Given the description of an element on the screen output the (x, y) to click on. 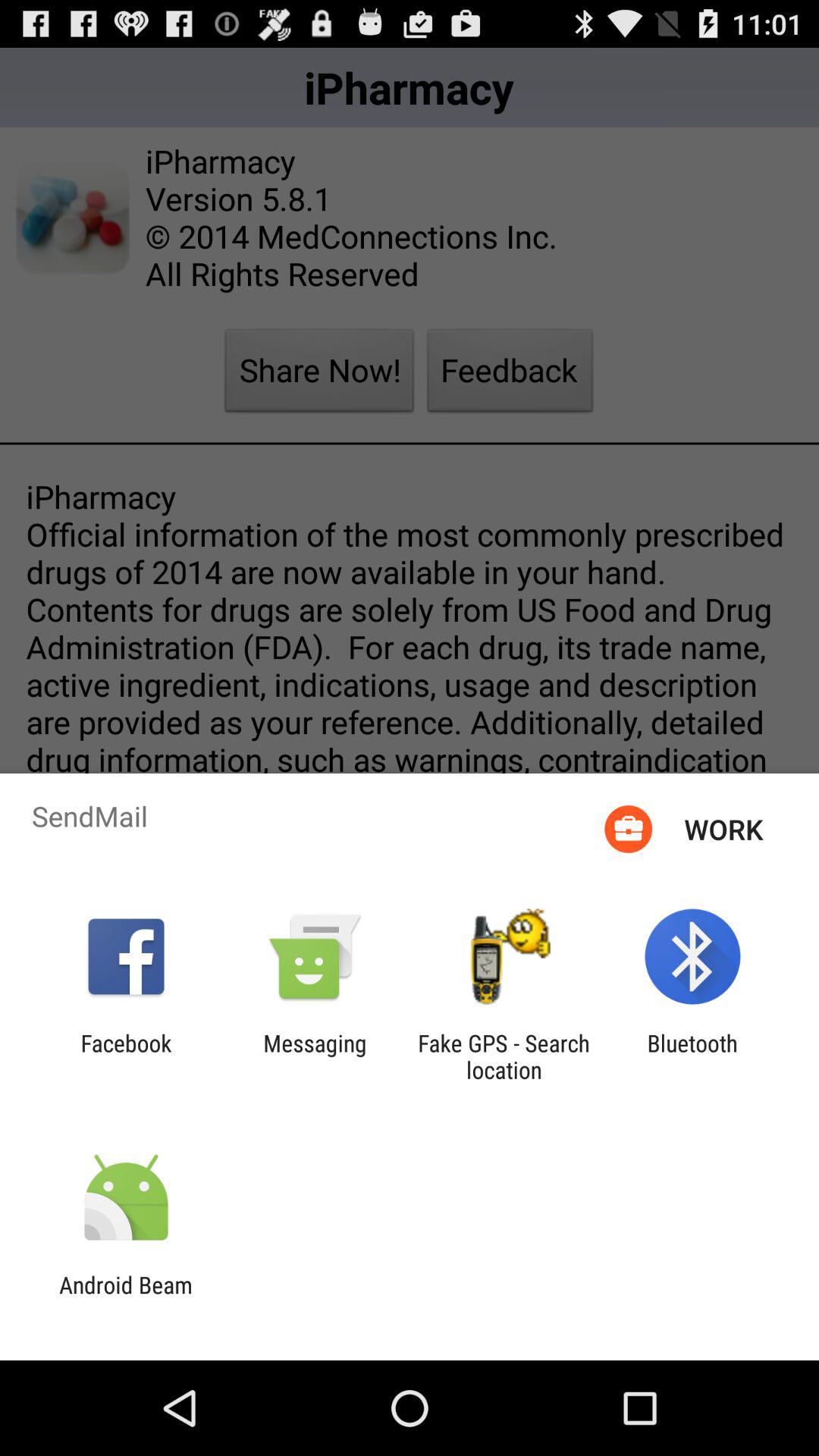
press the icon to the left of the fake gps search app (314, 1056)
